Given the description of an element on the screen output the (x, y) to click on. 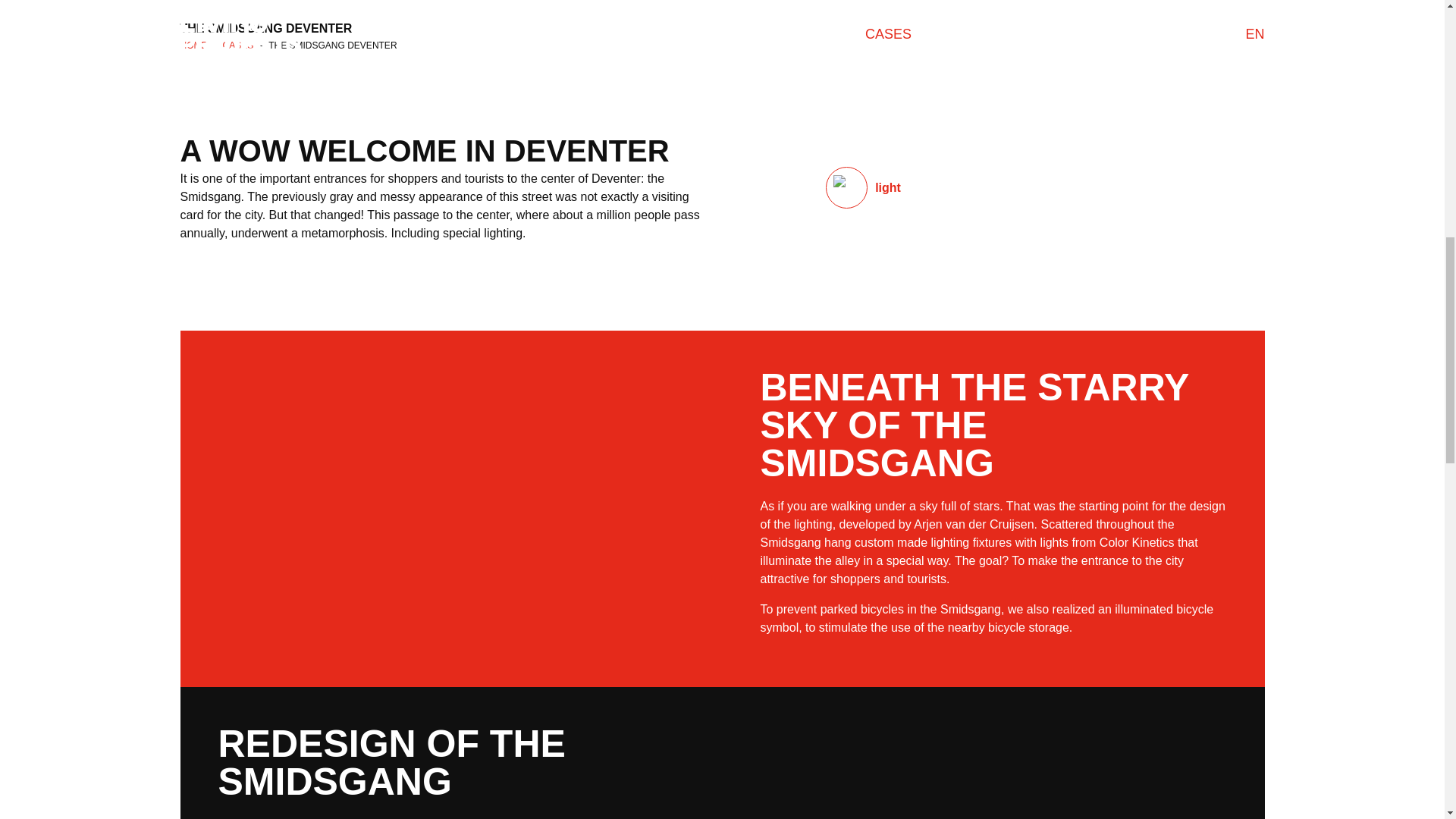
Cases (237, 45)
Home (194, 45)
HOME (194, 45)
CASES (237, 45)
